Given the description of an element on the screen output the (x, y) to click on. 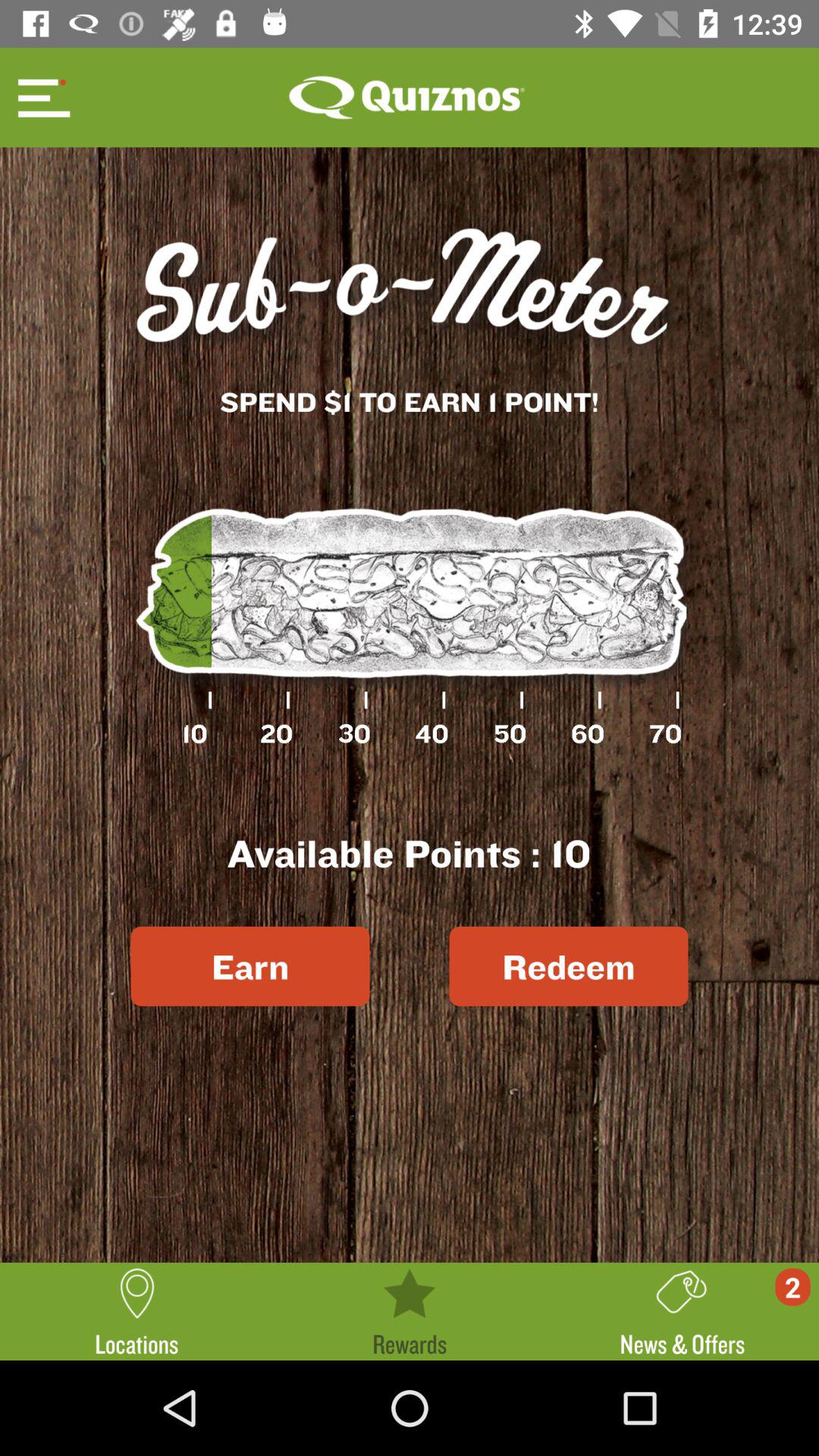
settings/options (41, 97)
